Given the description of an element on the screen output the (x, y) to click on. 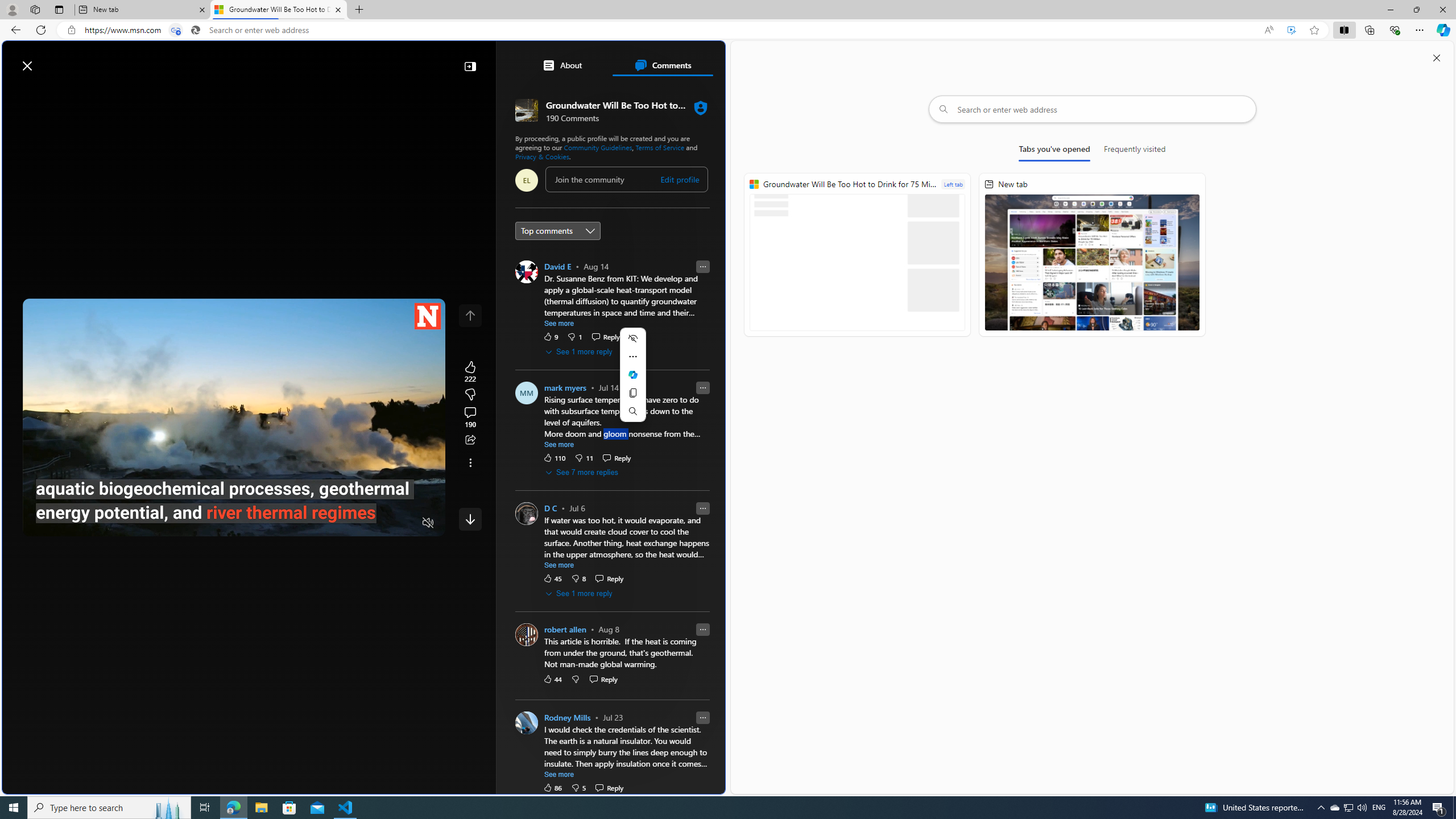
Frequently visited (1134, 151)
The Associated Press (554, 366)
44 Like (552, 678)
Personalize (679, 92)
Terms of Service (659, 146)
45 Like (552, 578)
Profile Picture (526, 722)
Share this story (469, 440)
Sort comments by (557, 230)
